Given the description of an element on the screen output the (x, y) to click on. 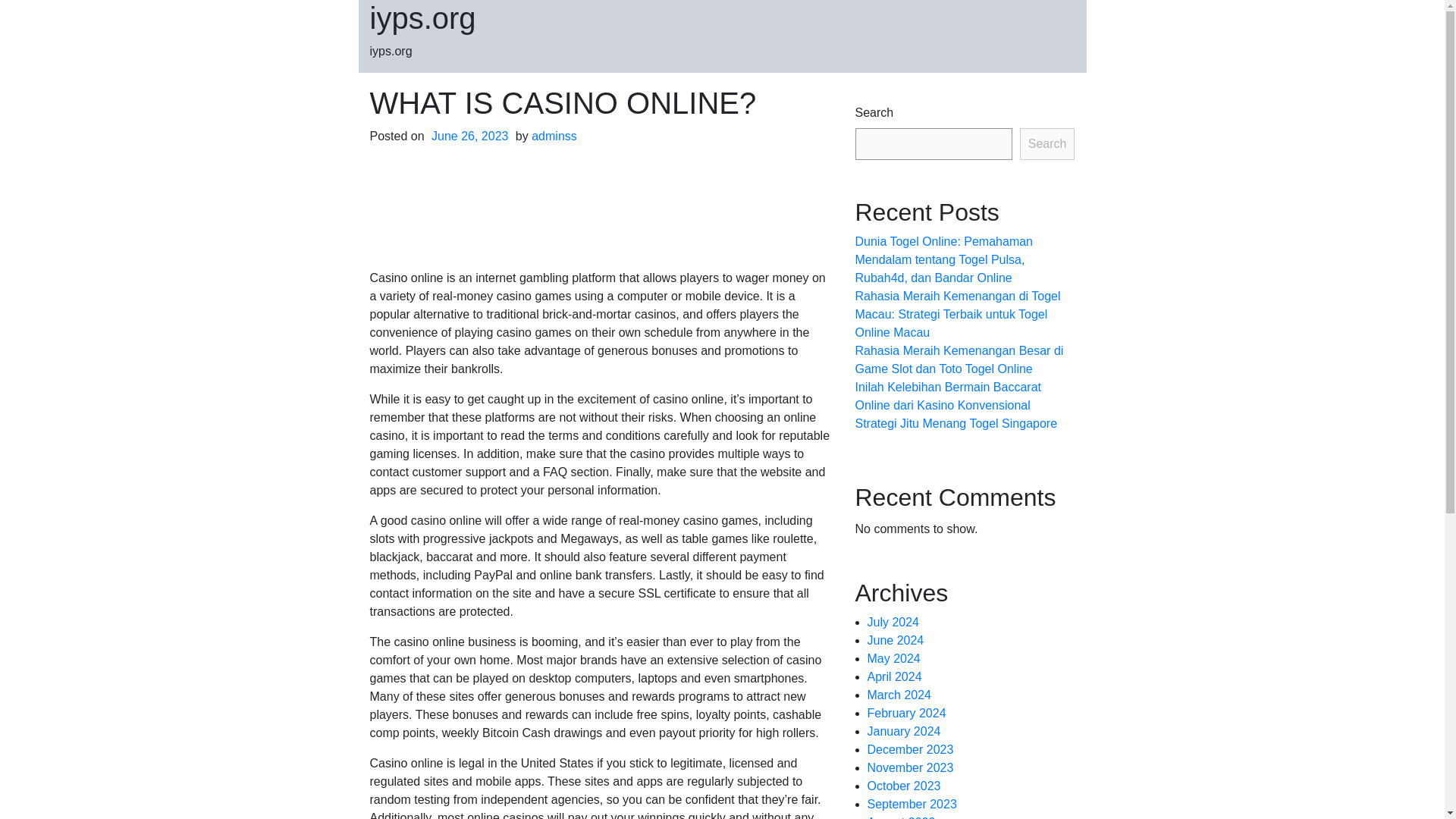
April 2024 (894, 676)
September 2023 (911, 803)
adminss (553, 135)
March 2024 (899, 694)
June 2024 (895, 640)
January 2024 (903, 730)
May 2024 (893, 658)
July 2024 (893, 621)
June 26, 2023 (470, 135)
iyps.org (422, 18)
Search (1047, 143)
November 2023 (910, 767)
